Given the description of an element on the screen output the (x, y) to click on. 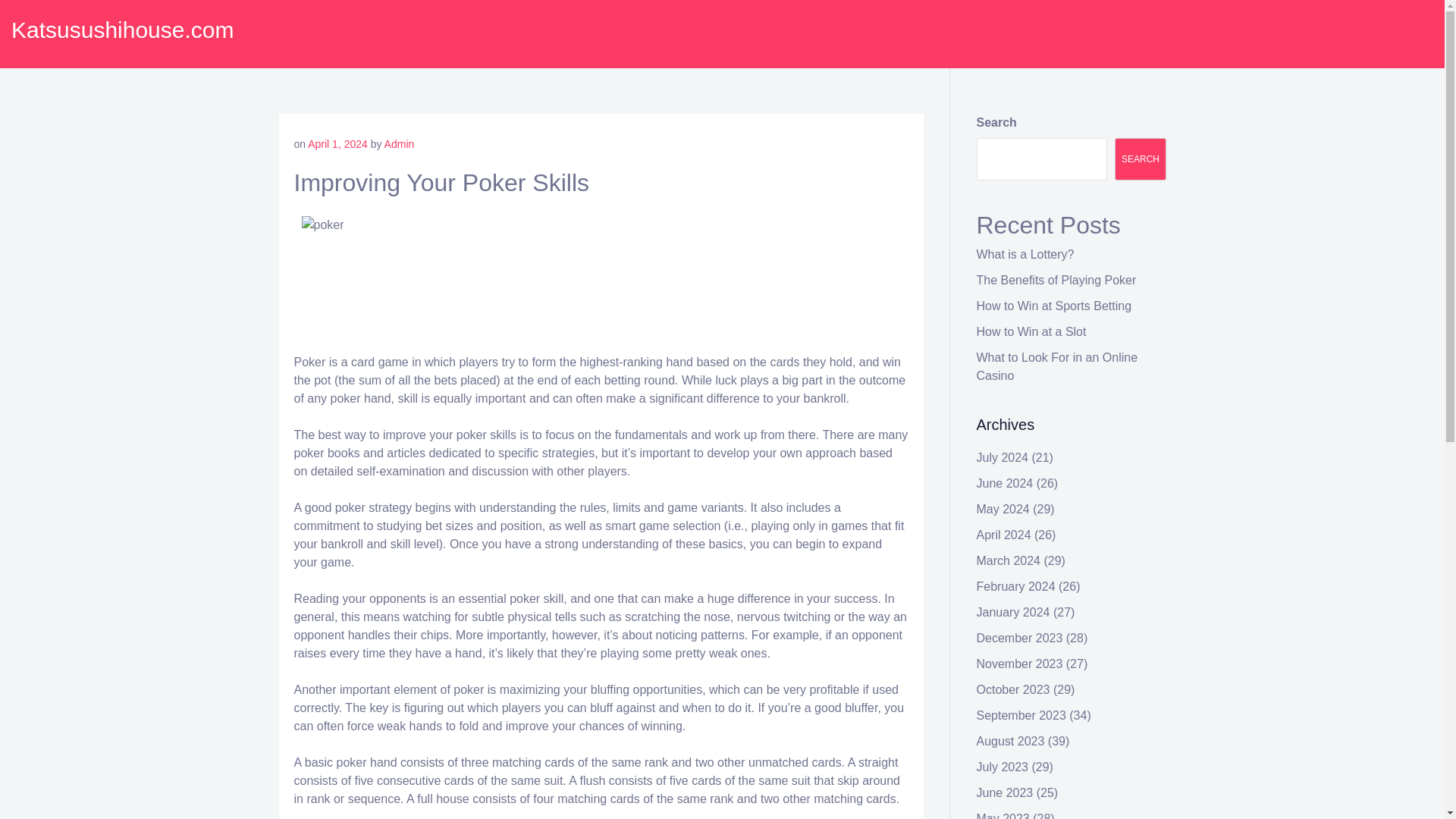
December 2023 (1019, 637)
September 2023 (1020, 715)
Admin (399, 143)
April 1, 2024 (337, 143)
How to Win at Sports Betting (1054, 305)
July 2024 (1002, 457)
The Benefits of Playing Poker (1056, 279)
October 2023 (1012, 689)
May 2024 (1002, 508)
May 2023 (1002, 815)
July 2023 (1002, 766)
June 2023 (1004, 792)
February 2024 (1015, 585)
What to Look For in an Online Casino (1057, 366)
How to Win at a Slot (1031, 331)
